Given the description of an element on the screen output the (x, y) to click on. 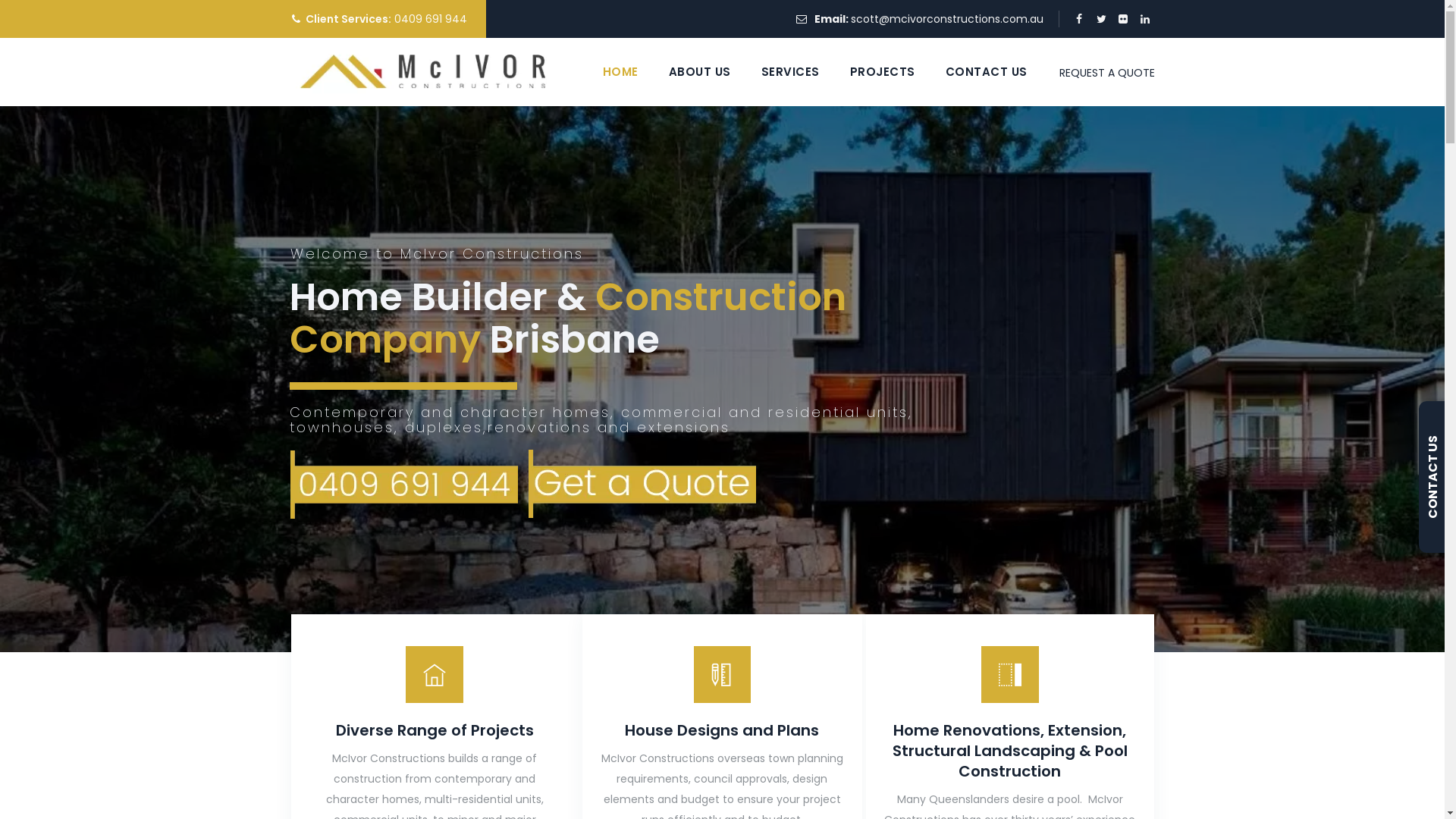
REQUEST A QUOTE Element type: text (1106, 72)
ABOUT US Element type: text (699, 71)
scott@mcivorconstructions.com.au Element type: text (946, 18)
0409 691 944 Element type: text (430, 18)
CONTACT US Element type: text (985, 71)
PROJECTS Element type: text (881, 71)
SERVICES Element type: text (790, 71)
McIvor Constructions Element type: hover (425, 71)
HOME Element type: text (619, 71)
